Given the description of an element on the screen output the (x, y) to click on. 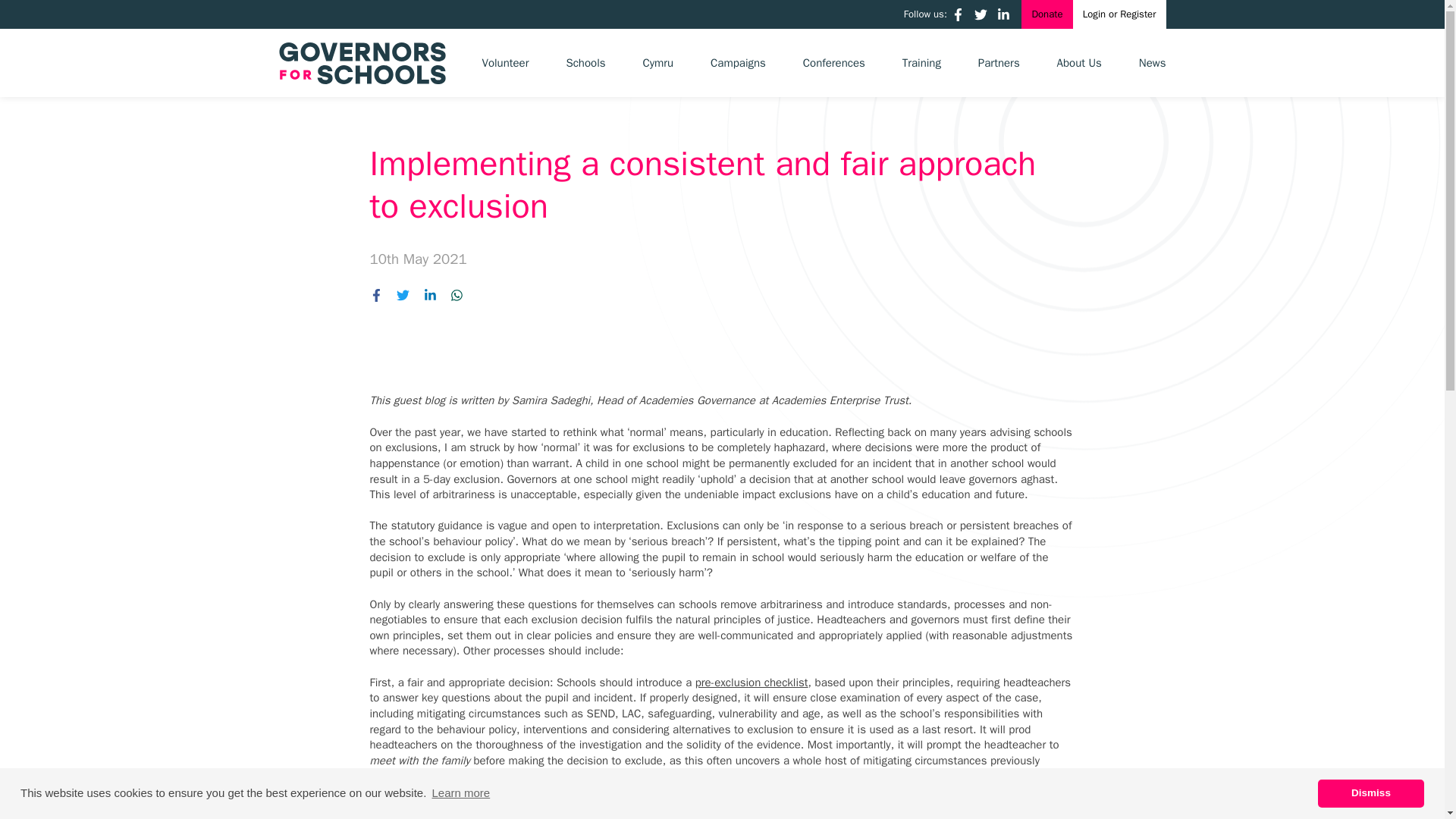
Donate (1046, 14)
Learn more (460, 793)
Campaigns (737, 62)
Dismiss (1370, 793)
Login or Register (1119, 14)
